Given the description of an element on the screen output the (x, y) to click on. 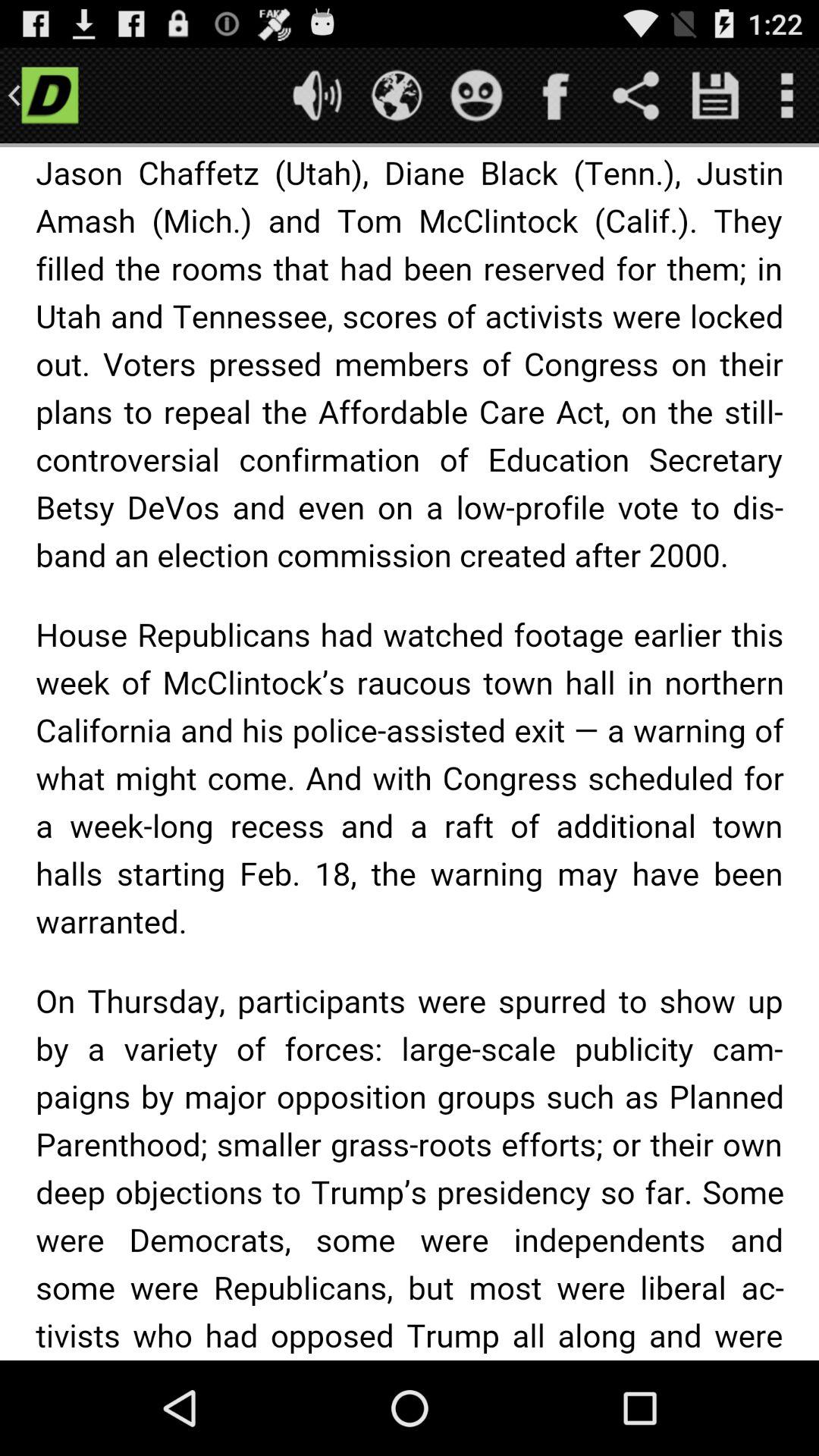
mute or unmute sound (317, 95)
